Given the description of an element on the screen output the (x, y) to click on. 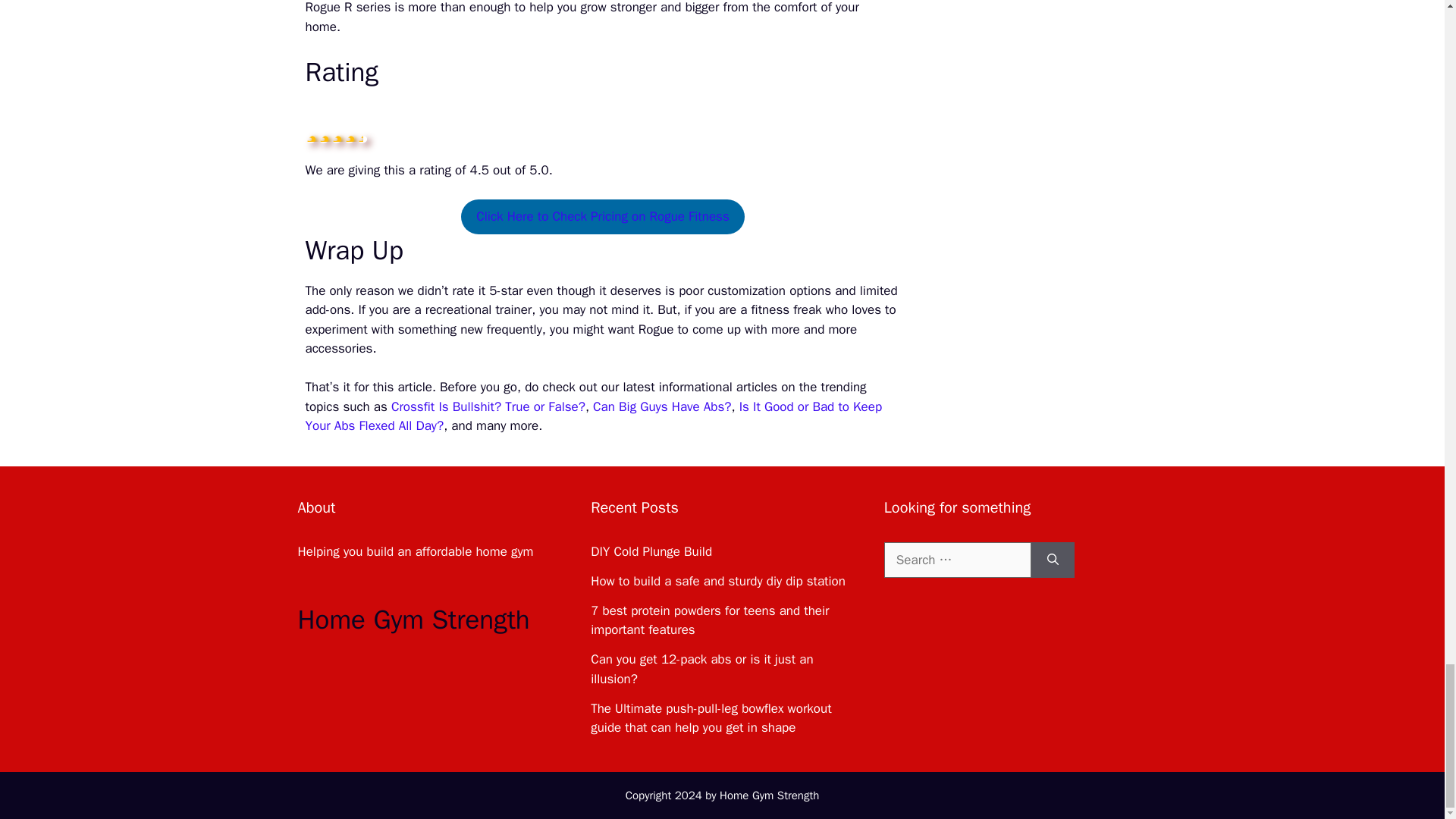
Crossfit Is Bullshit? True or False? (488, 406)
Is It Good or Bad to Keep Your Abs Flexed All Day? (593, 416)
How to build a safe and sturdy diy dip station (718, 580)
Can Big Guys Have Abs? (661, 406)
Search for: (956, 560)
Click Here to Check Pricing on Rogue Fitness (602, 216)
DIY Cold Plunge Build (651, 551)
